Given the description of an element on the screen output the (x, y) to click on. 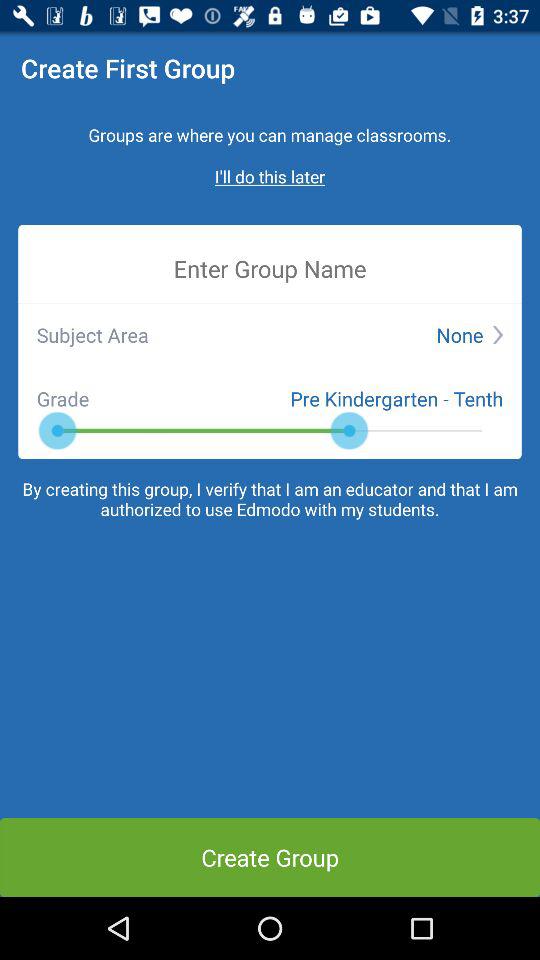
scroll to i ll do (269, 176)
